Given the description of an element on the screen output the (x, y) to click on. 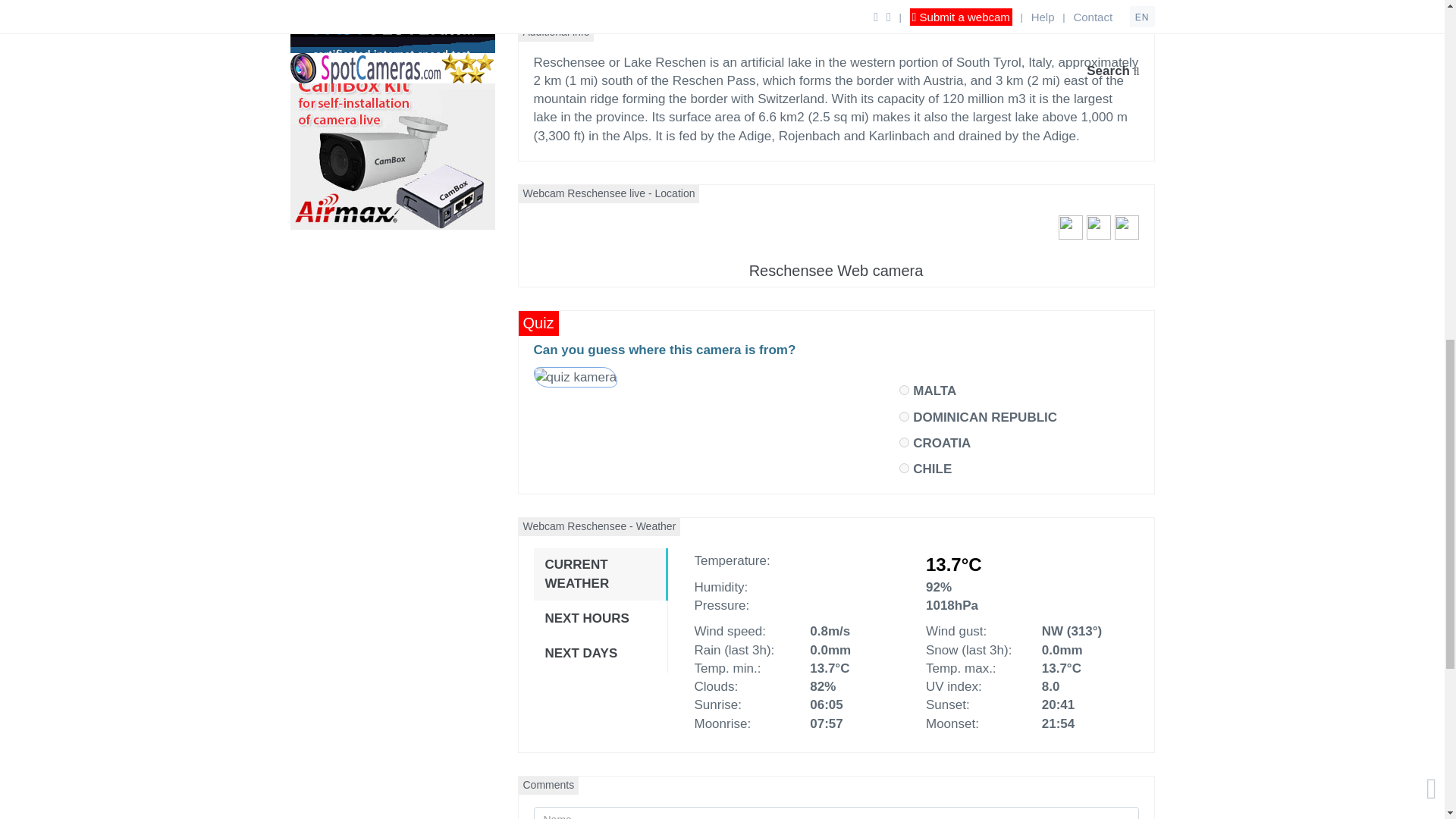
speedtest (392, 31)
f (903, 389)
f (903, 442)
quiz kamera (574, 377)
f (903, 416)
t (903, 468)
